Given the description of an element on the screen output the (x, y) to click on. 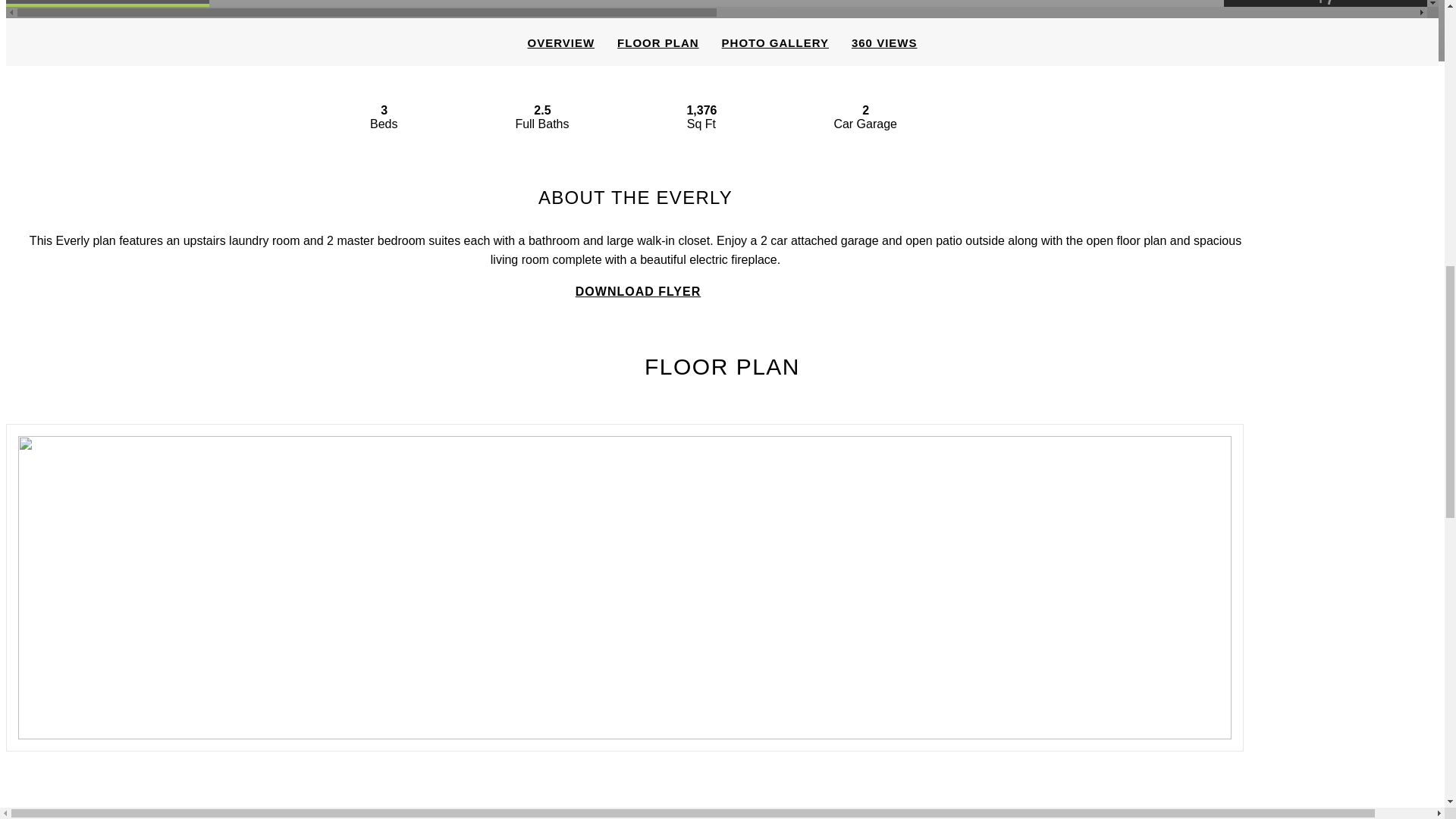
FLOOR PLAN (657, 42)
360 VIEWS (884, 42)
DOWNLOAD FLYER (635, 291)
PHOTO GALLERY (775, 42)
OVERVIEW (561, 42)
